Given the description of an element on the screen output the (x, y) to click on. 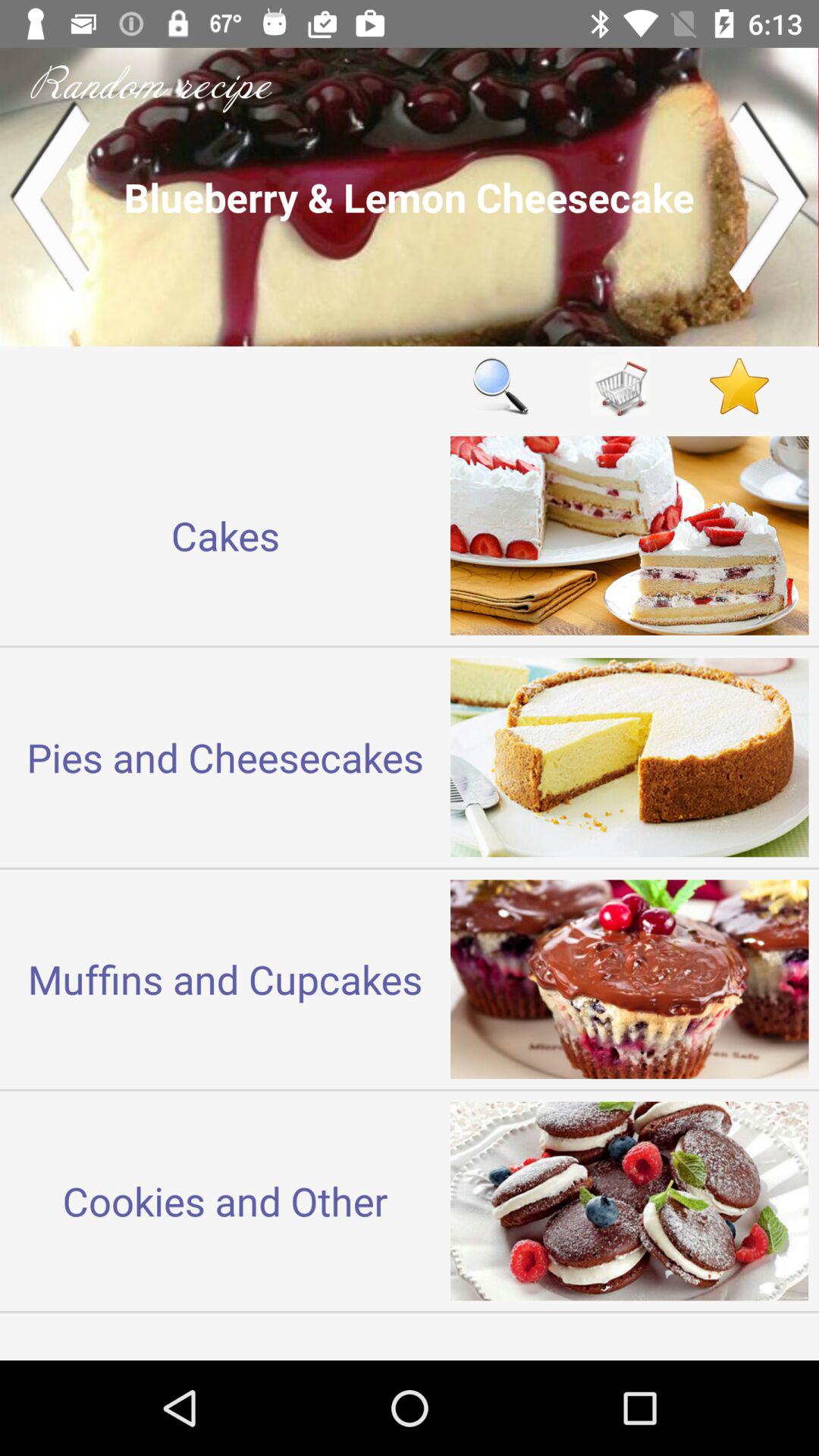
click the cookies and other item (225, 1200)
